Given the description of an element on the screen output the (x, y) to click on. 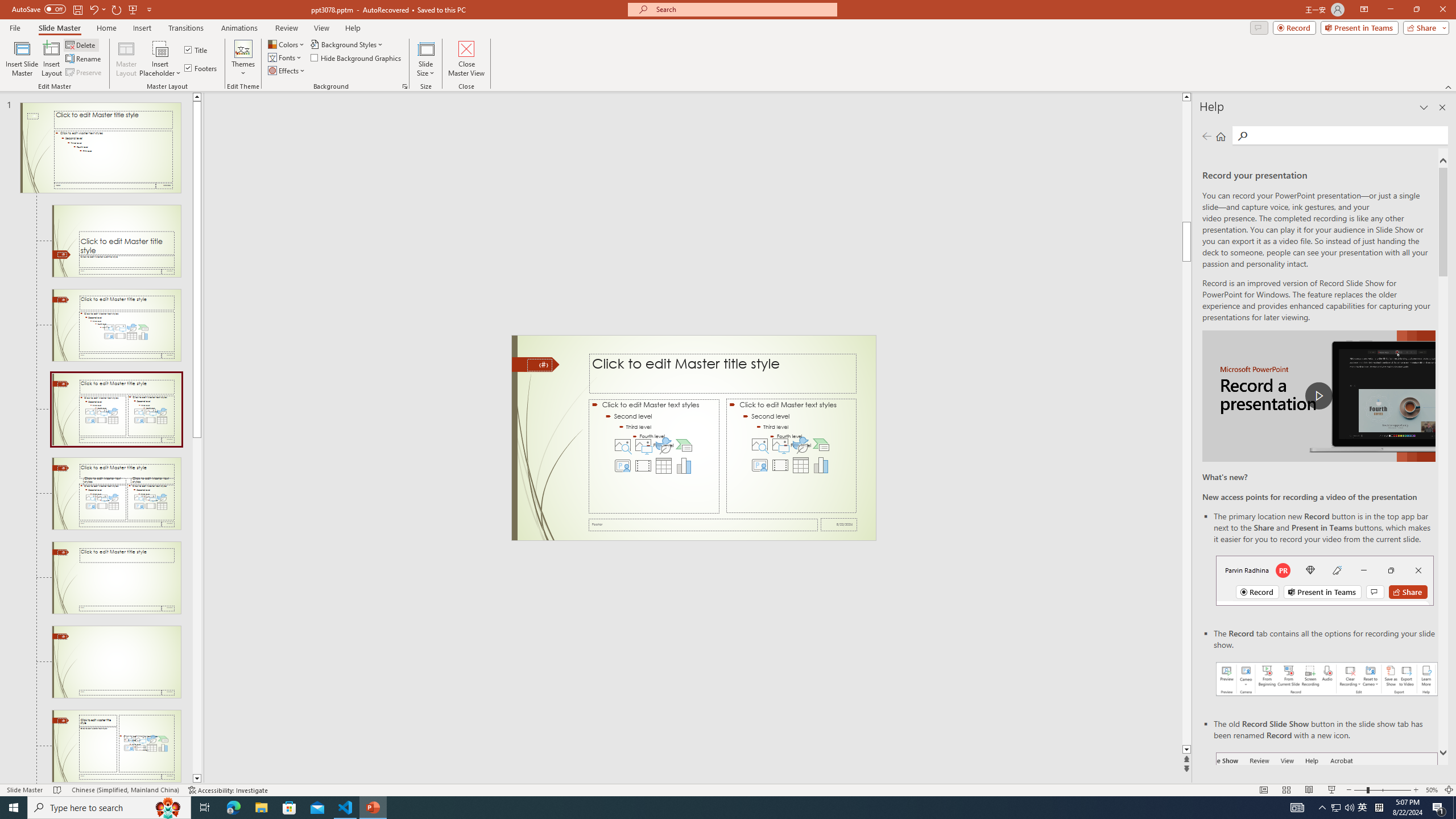
Insert Cameo (759, 465)
Themes (243, 58)
Slide Master (59, 28)
Insert Table (800, 465)
Title (196, 49)
Rename (84, 58)
Insert Chart (820, 465)
Footers (201, 67)
